Given the description of an element on the screen output the (x, y) to click on. 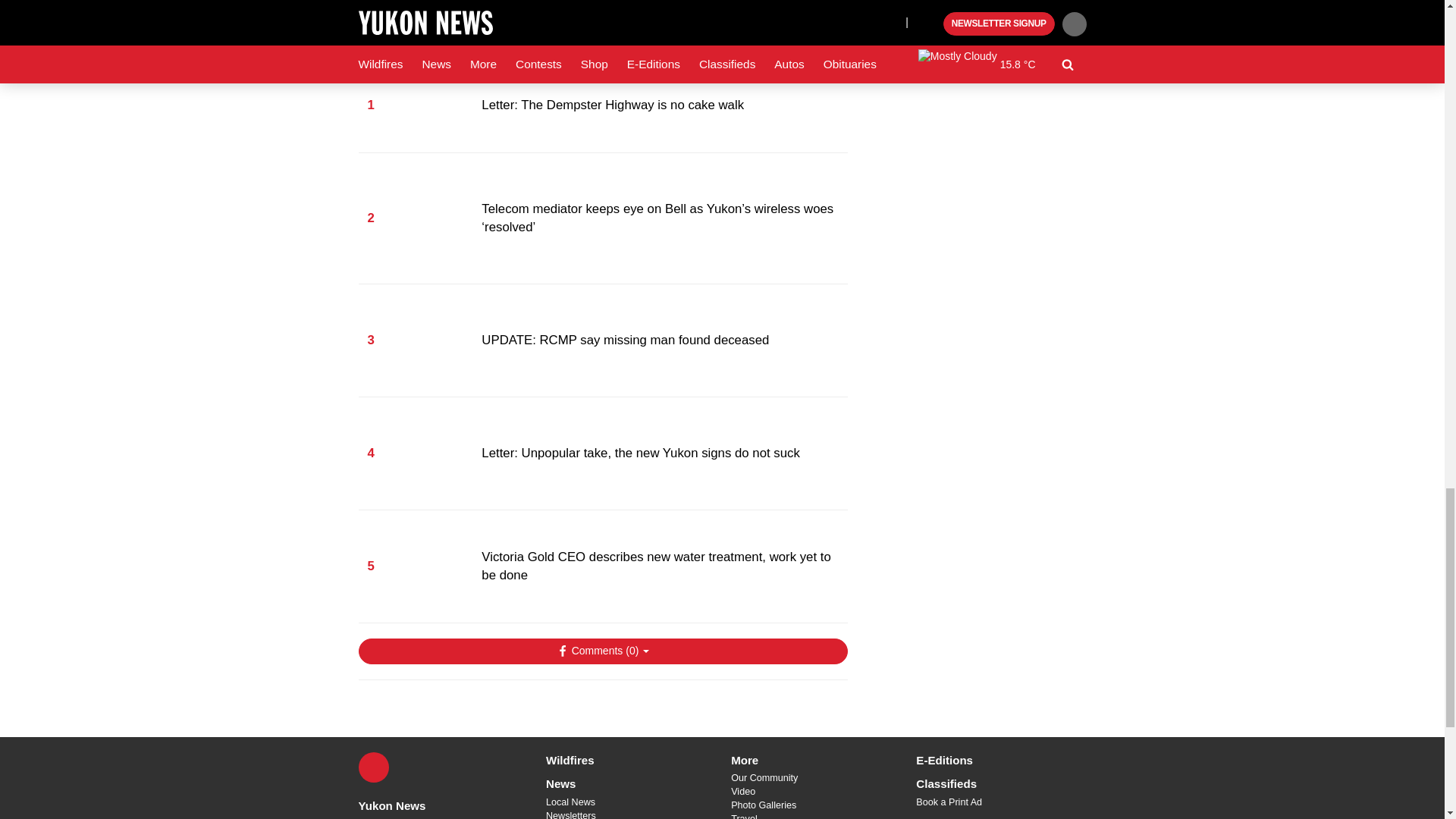
Show Comments (602, 651)
X (373, 767)
